Given the description of an element on the screen output the (x, y) to click on. 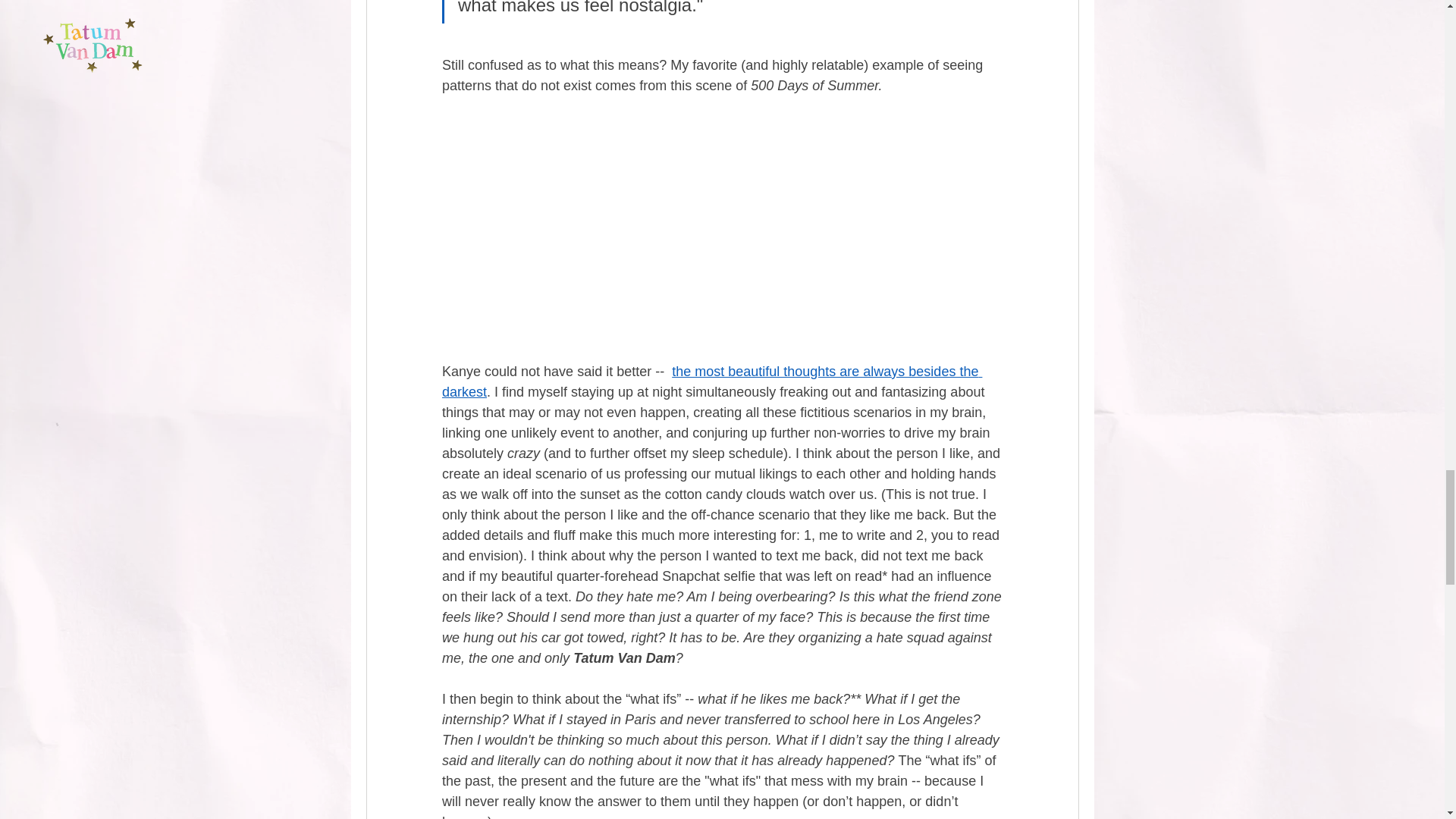
the most beautiful thoughts are always besides the darkest (711, 381)
